Given the description of an element on the screen output the (x, y) to click on. 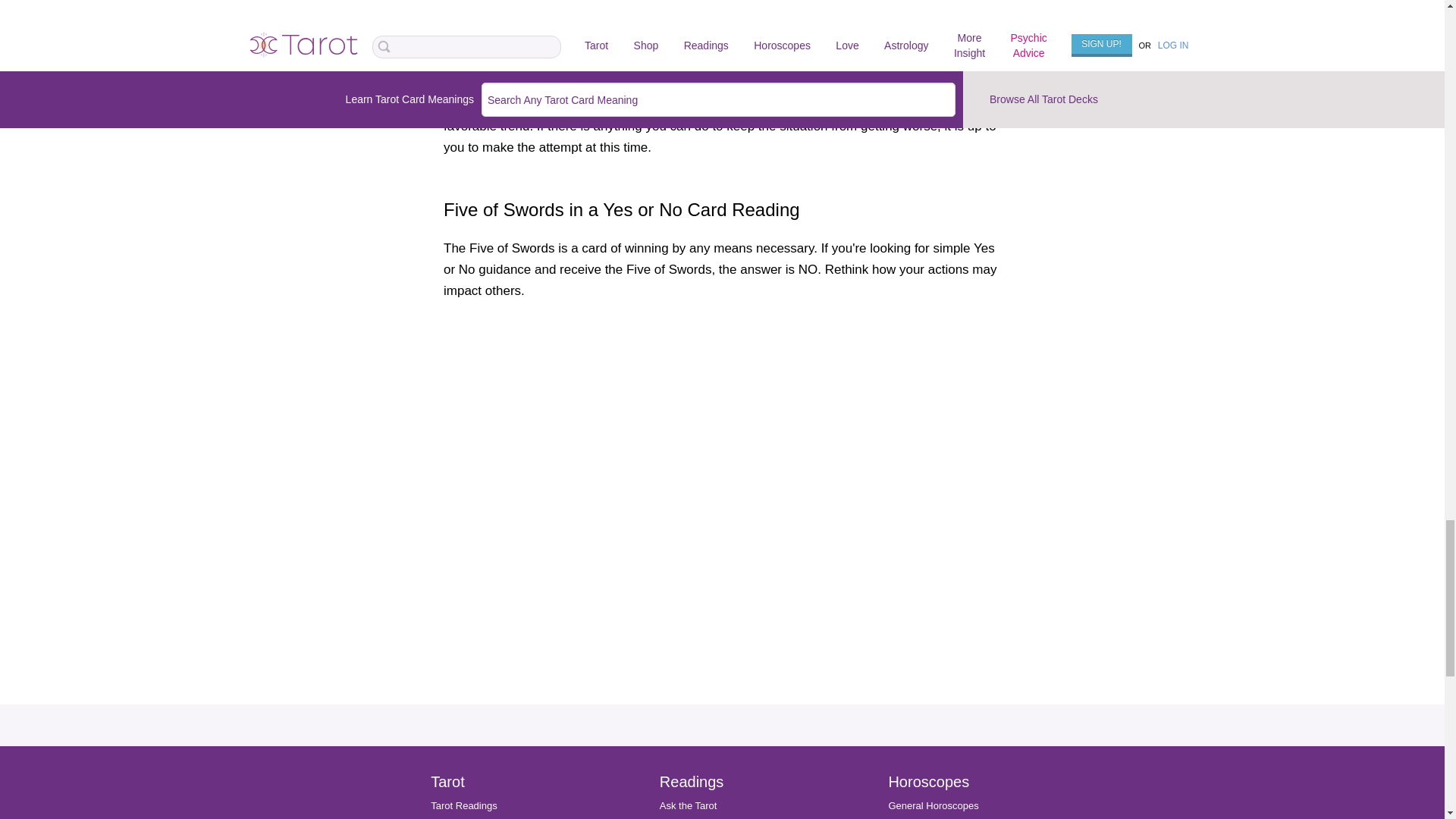
Tarot (443, 740)
twitter (790, 724)
FREE Love Tarot Reading (487, 806)
instagram (645, 724)
pinterest (718, 724)
FREE 3-Card Tarot Reading (491, 785)
Tarot Readings (463, 763)
youtube (865, 724)
facebook (571, 724)
